Given the description of an element on the screen output the (x, y) to click on. 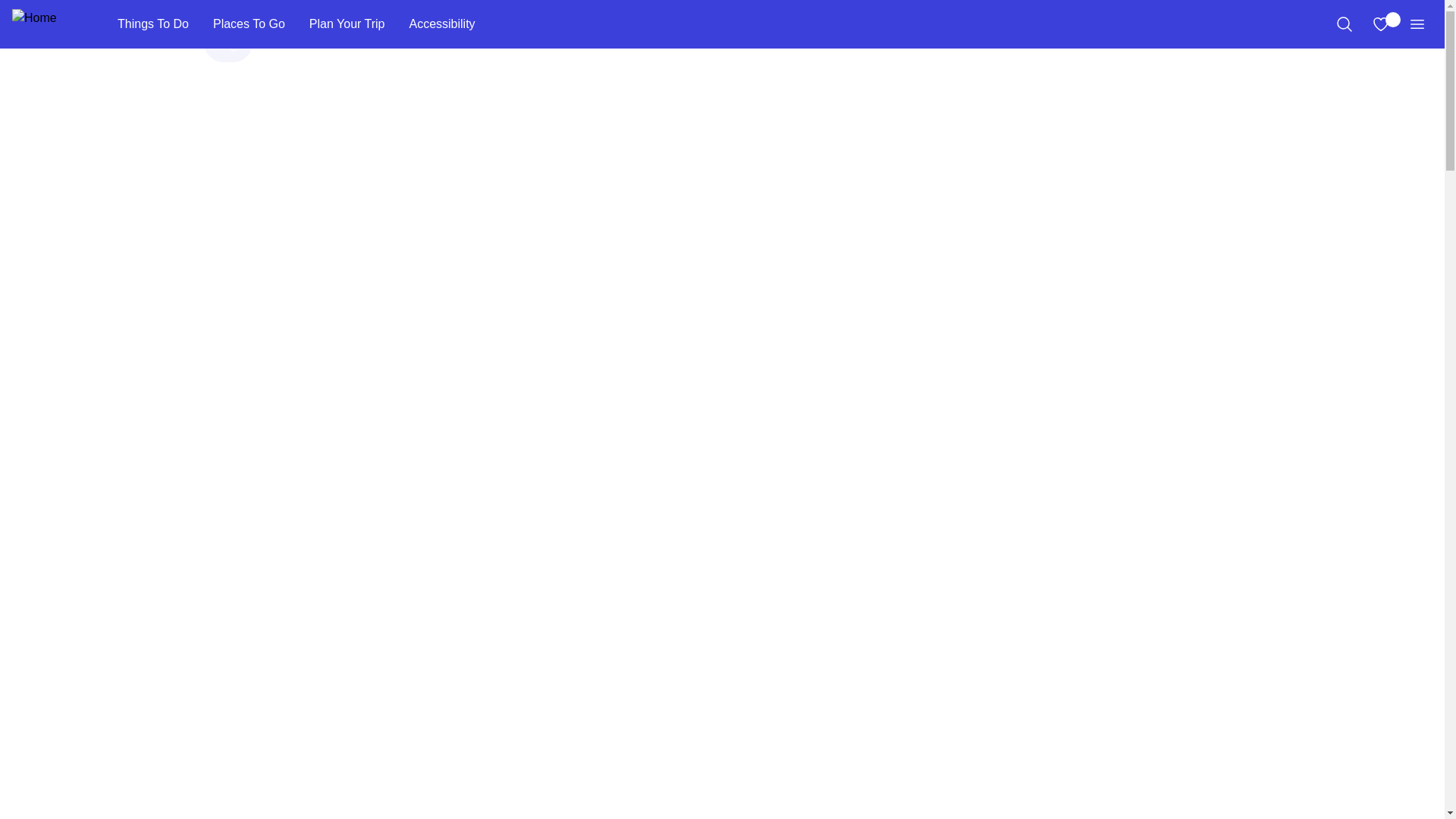
View My Favorites (1380, 24)
Search the Site (1344, 24)
Things To Do (152, 24)
Accessibility (441, 24)
Illinois (398, 65)
Menu (1417, 24)
Plan Your Trip (347, 24)
Places To Go (248, 24)
